Given the description of an element on the screen output the (x, y) to click on. 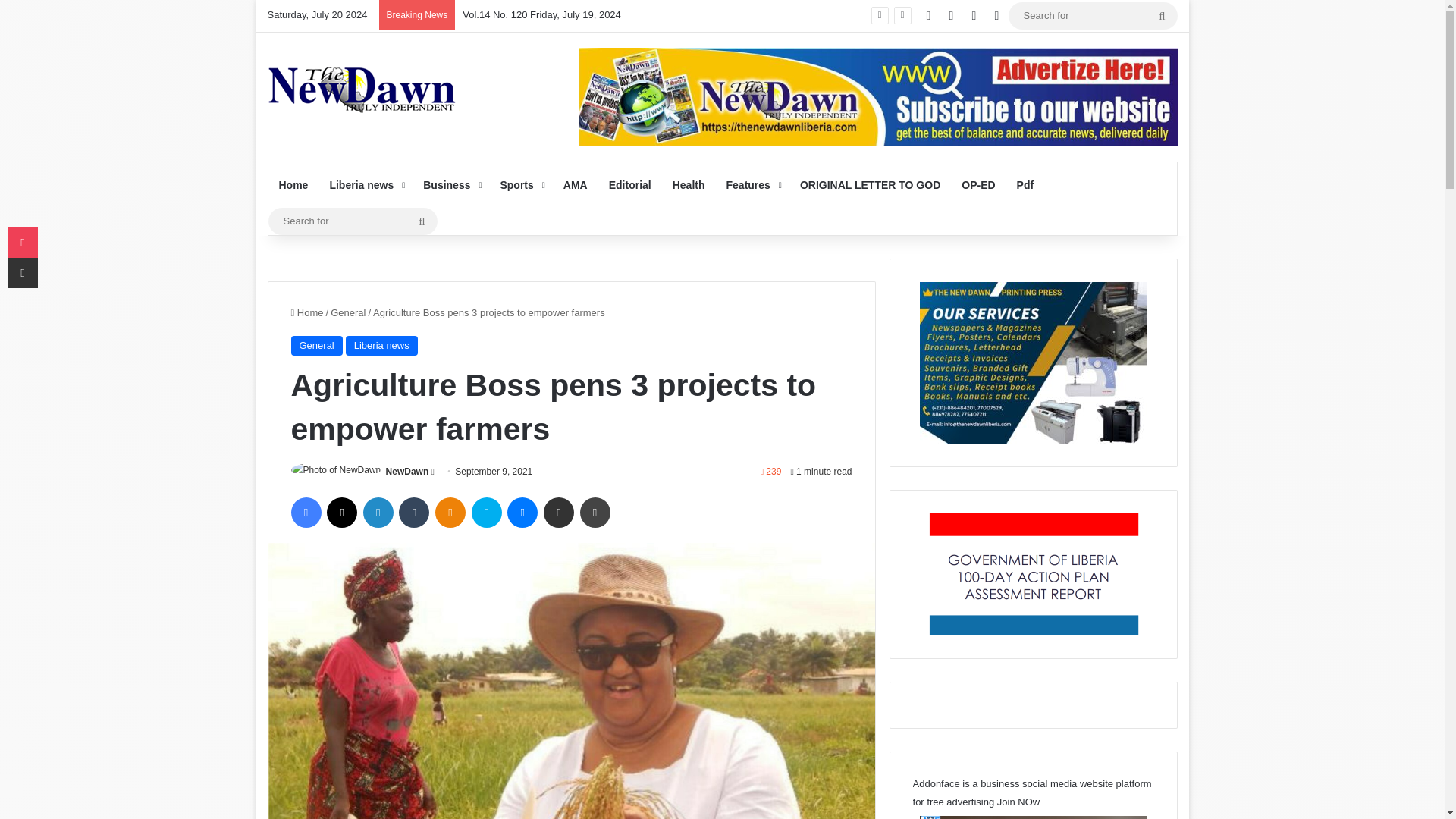
Odnoklassniki (450, 512)
AMA (575, 185)
LinkedIn (377, 512)
Home (292, 185)
Search for (1161, 15)
Sports (520, 185)
Print (594, 512)
Editorial (630, 185)
X (341, 512)
Messenger (521, 512)
Business (450, 185)
Share via Email (558, 512)
Skype (486, 512)
Search for (352, 221)
Health (689, 185)
